Given the description of an element on the screen output the (x, y) to click on. 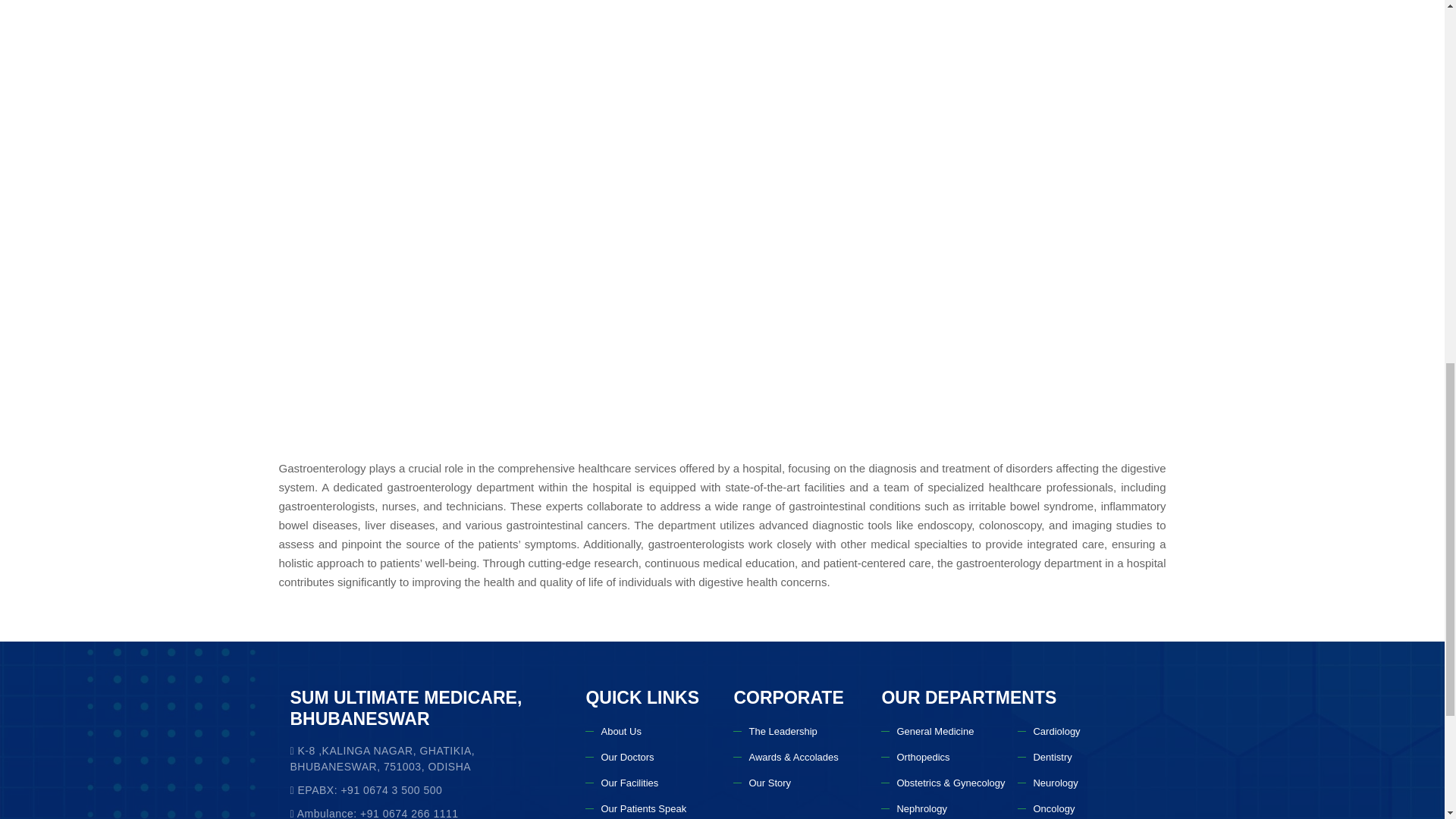
Our Patients Speak (635, 808)
Our Facilities (621, 782)
The Leadership (774, 731)
About Us (612, 731)
Our Doctors (619, 756)
